Given the description of an element on the screen output the (x, y) to click on. 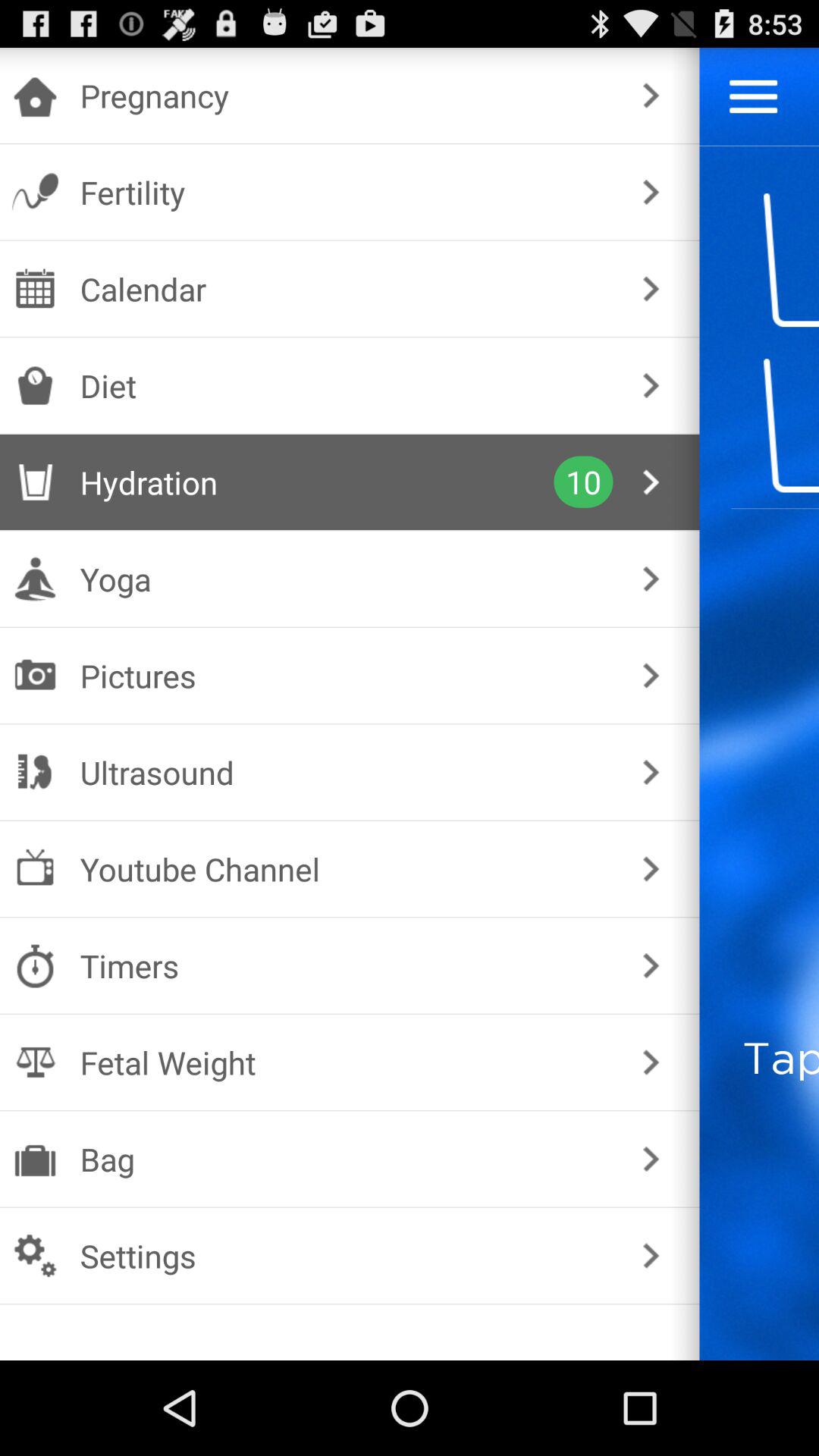
scroll until youtube channel checkbox (346, 868)
